Given the description of an element on the screen output the (x, y) to click on. 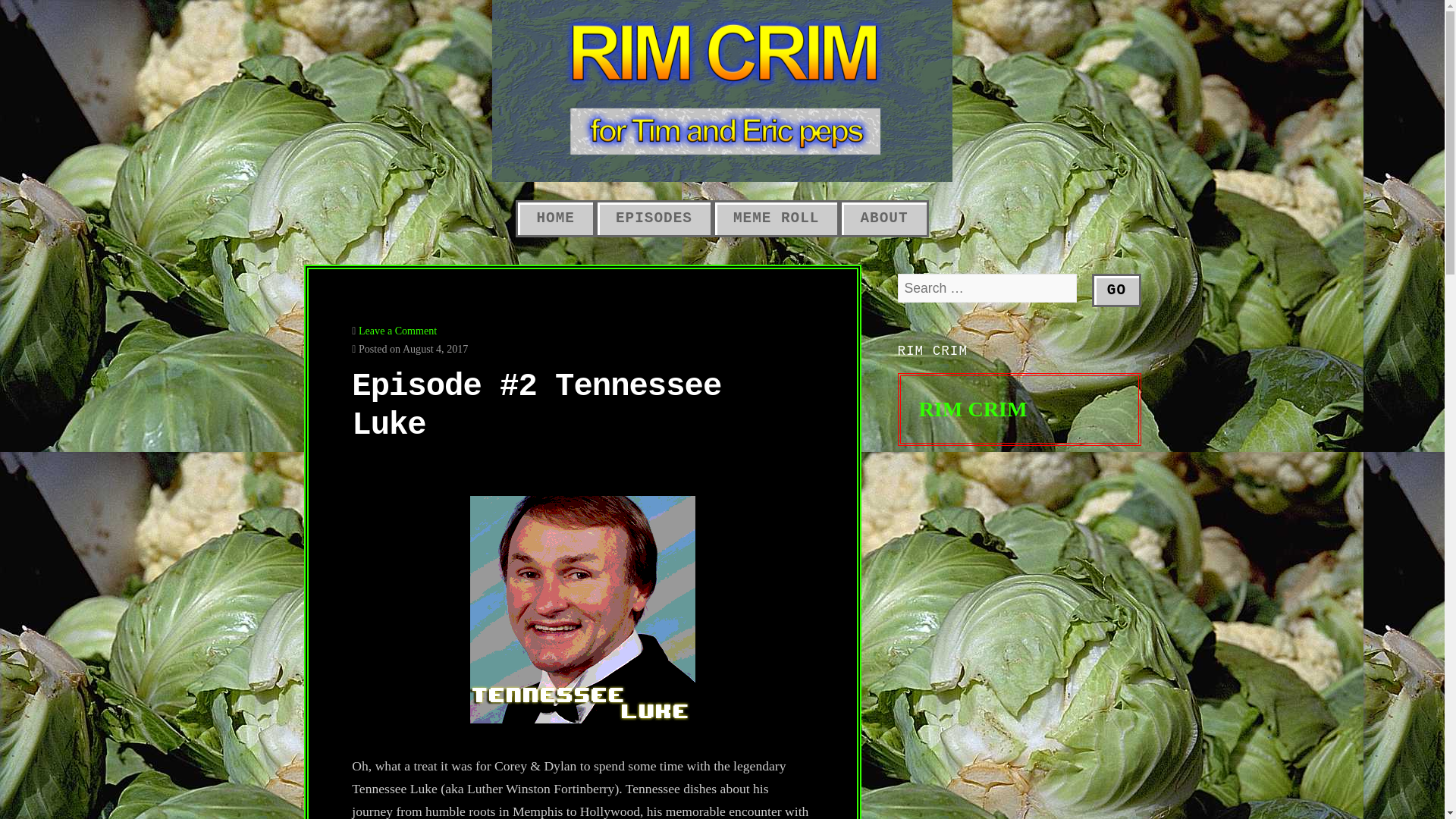
ABOUT (884, 218)
HOME (554, 218)
Go (1116, 290)
Go (1116, 290)
RIM CRIM (972, 408)
MEME ROLL (776, 218)
EPISODES (654, 218)
RIM CRIM (933, 350)
Leave a Comment (397, 330)
